Given the description of an element on the screen output the (x, y) to click on. 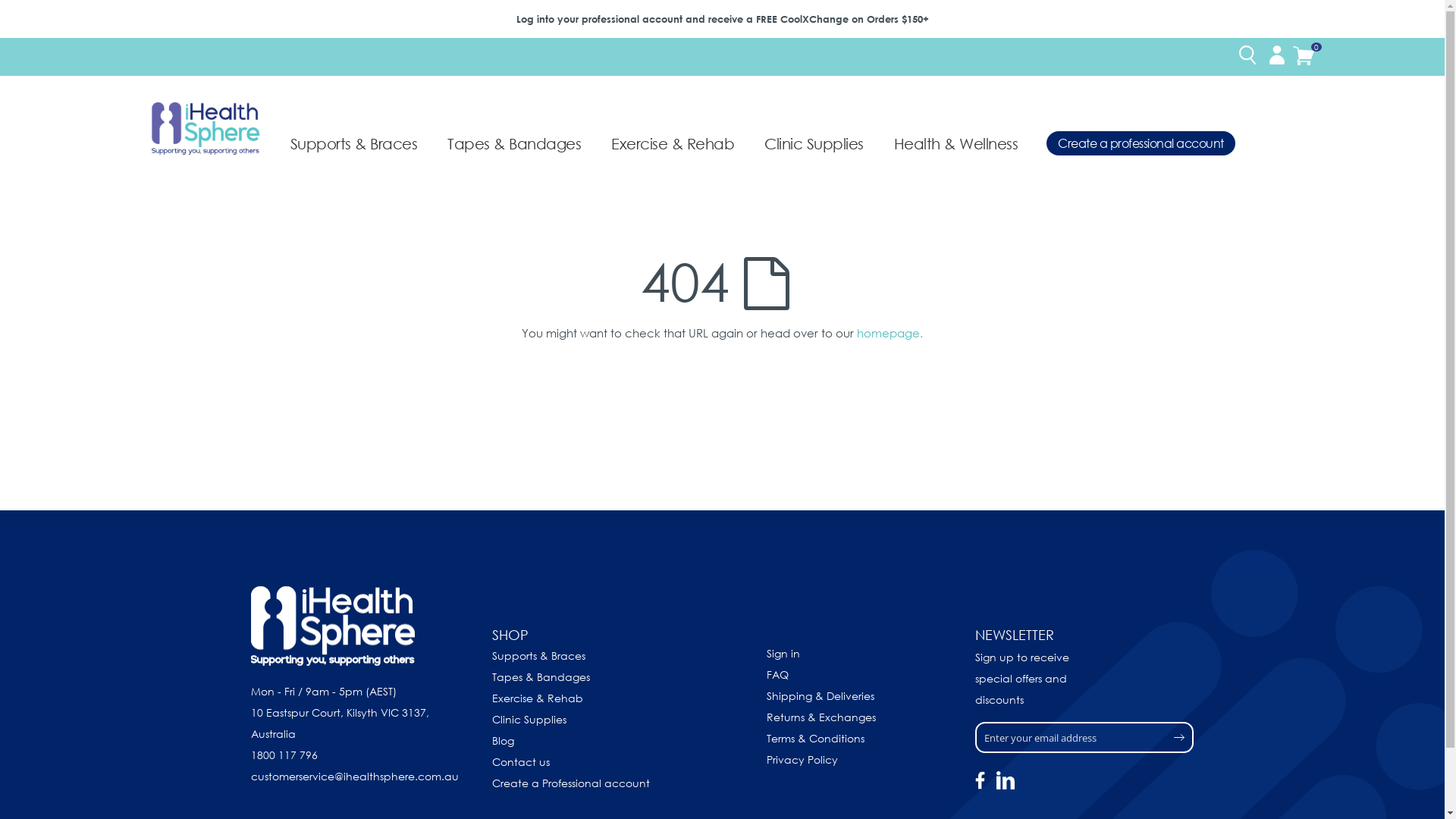
Tapes & Bandages Element type: text (513, 142)
Exercise & Rehab Element type: text (672, 142)
iHealthSphere Element type: hover (204, 128)
Exercise & Rehab Element type: text (537, 697)
Create a professional account Element type: text (1140, 143)
1800 117 796 Element type: text (284, 754)
Blog Element type: text (503, 740)
Contact us Element type: text (520, 761)
customerservice@ihealthsphere.com.au Element type: text (354, 775)
Returns & Exchanges Element type: text (820, 716)
Subscribe Element type: hover (1115, 737)
Clinic Supplies Element type: text (813, 142)
Create a Professional account Element type: text (570, 782)
Tapes & Bandages Element type: text (540, 676)
FAQ Element type: text (777, 674)
Sign in Element type: text (783, 652)
Health & Wellness Element type: text (956, 142)
Clinic Supplies Element type: text (529, 718)
Shipping & Deliveries Element type: text (820, 695)
Supports & Braces Element type: text (538, 655)
Cart
0
items Element type: text (1302, 57)
Supports & Braces Element type: text (353, 142)
Terms & Conditions Element type: text (815, 737)
Privacy Policy Element type: text (801, 759)
homepage. Element type: text (889, 332)
